Given the description of an element on the screen output the (x, y) to click on. 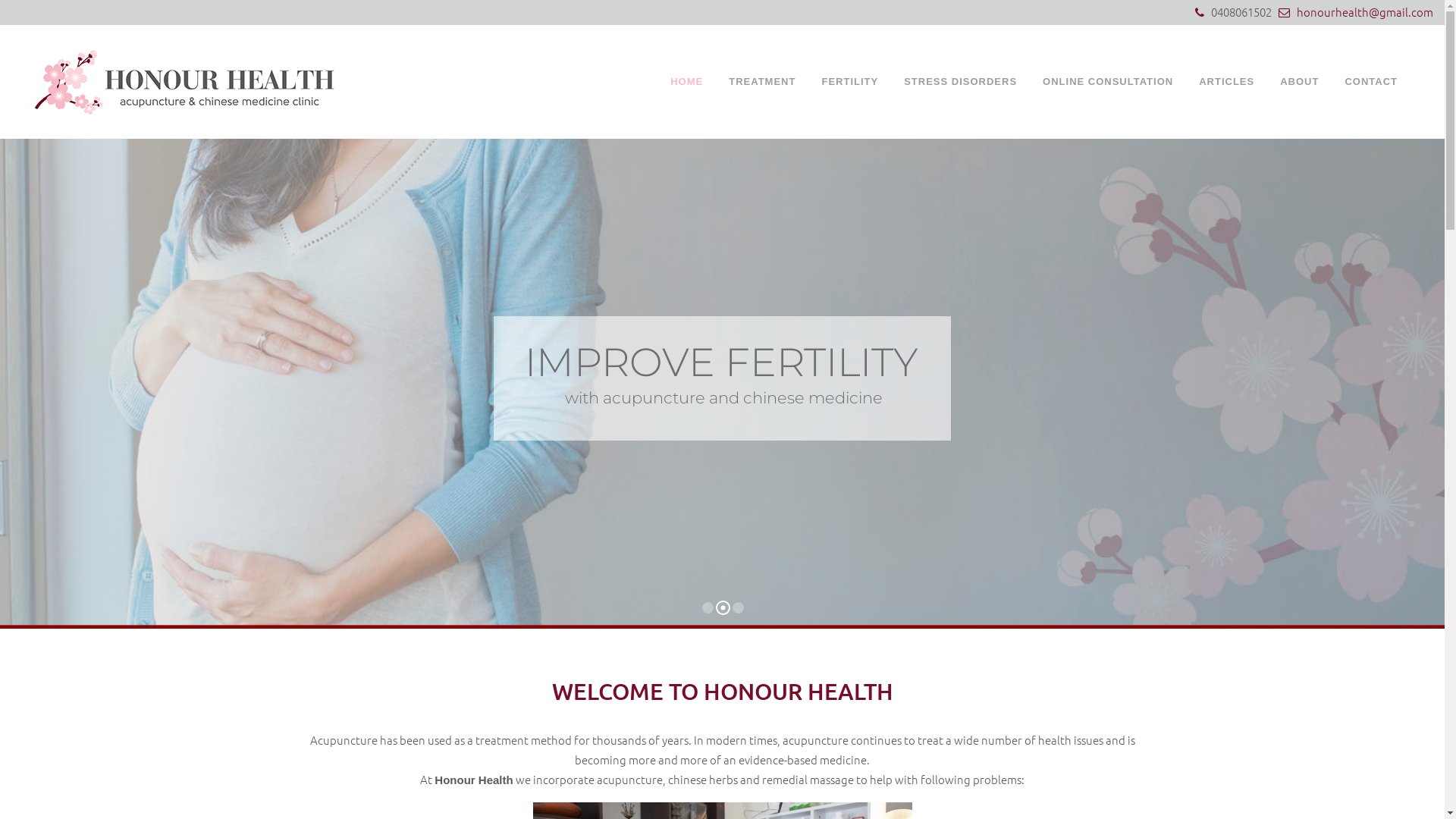
ARTICLES Element type: text (1226, 81)
TREATMENT Element type: text (761, 81)
HOME Element type: text (686, 81)
ABOUT Element type: text (1299, 81)
CONTACT Element type: text (1370, 81)
ONLINE CONSULTATION Element type: text (1107, 81)
STRESS DISORDERS Element type: text (960, 81)
  honourhealth@gmail.com Element type: text (1361, 11)
FERTILITY Element type: text (849, 81)
